Given the description of an element on the screen output the (x, y) to click on. 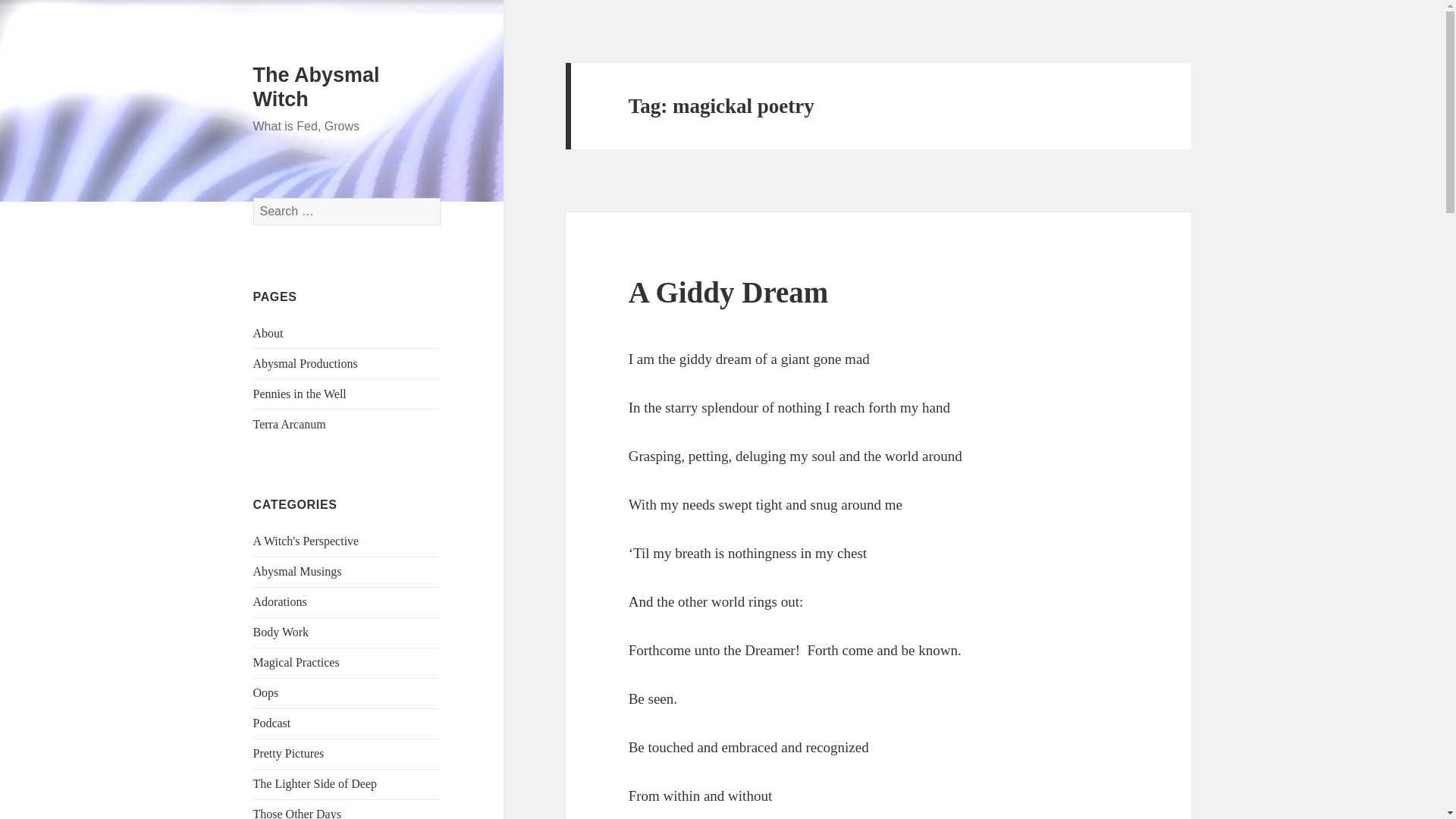
Pretty Pictures (288, 753)
The Lighter Side of Deep (315, 783)
Terra Arcanum (289, 423)
Pennies in the Well (299, 393)
Abysmal Productions (305, 363)
Adorations (280, 601)
Body Work (280, 631)
Abysmal Musings (297, 571)
Oops (266, 692)
The Abysmal Witch (316, 86)
Magical Practices (296, 662)
About (268, 332)
